Given the description of an element on the screen output the (x, y) to click on. 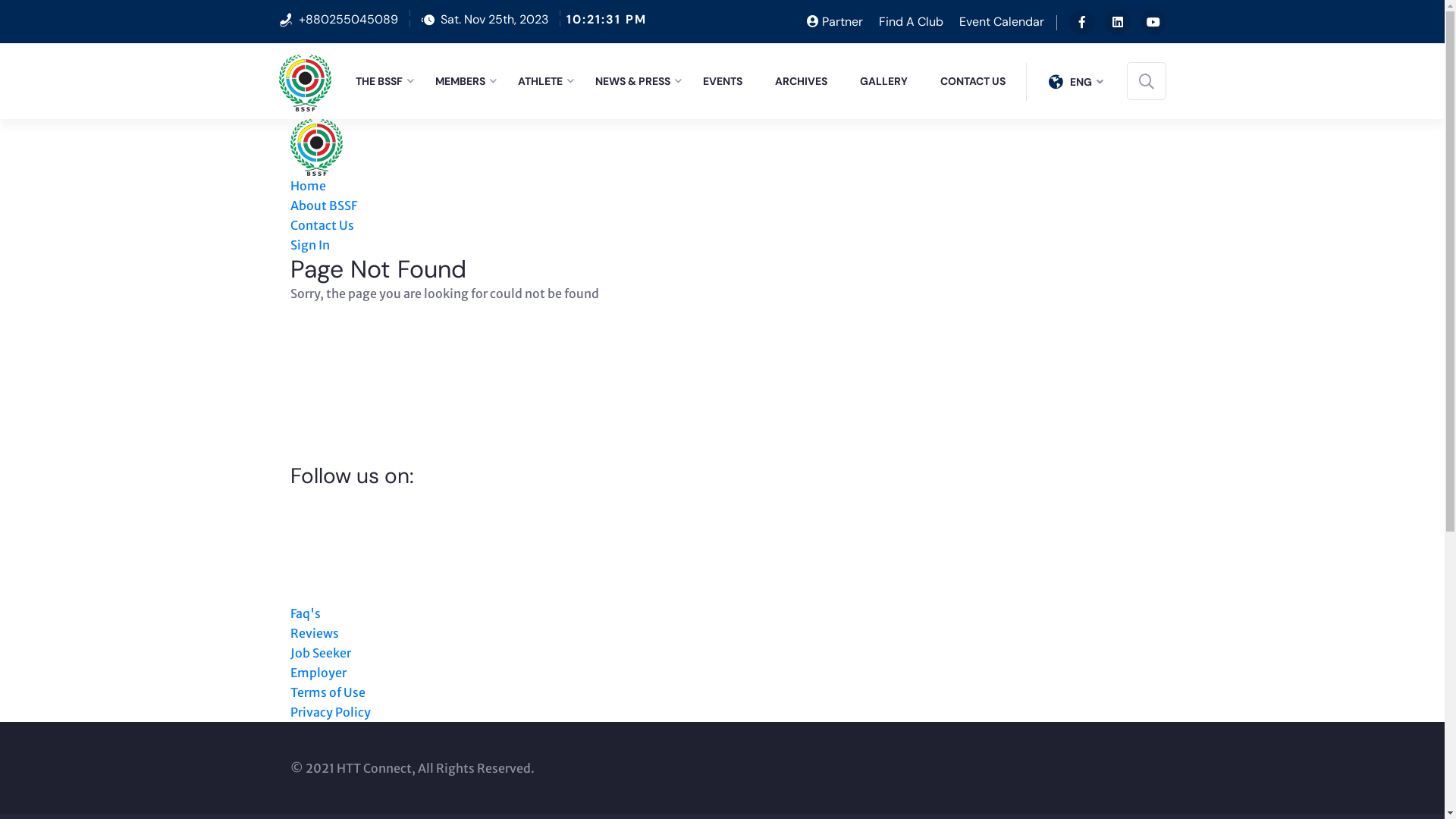
GALLERY Element type: text (889, 80)
Faq's Element type: text (304, 613)
EVENTS Element type: text (727, 80)
CONTACT US Element type: text (978, 80)
MEMBERS Element type: text (465, 80)
Terms of Use Element type: text (326, 691)
Contact Us Element type: text (321, 224)
ARCHIVES Element type: text (806, 80)
NEWS & PRESS Element type: text (637, 80)
Privacy Policy Element type: text (329, 711)
Employer Element type: text (317, 672)
About BSSF Element type: text (322, 205)
Sign In Element type: text (309, 244)
Event Calendar Element type: text (1000, 21)
Partner Element type: text (834, 21)
Reviews Element type: text (313, 632)
THE BSSF Element type: text (383, 80)
Find A Club Element type: text (910, 21)
ATHLETE Element type: text (545, 80)
Home Element type: text (307, 185)
Job Seeker Element type: text (319, 652)
